Given the description of an element on the screen output the (x, y) to click on. 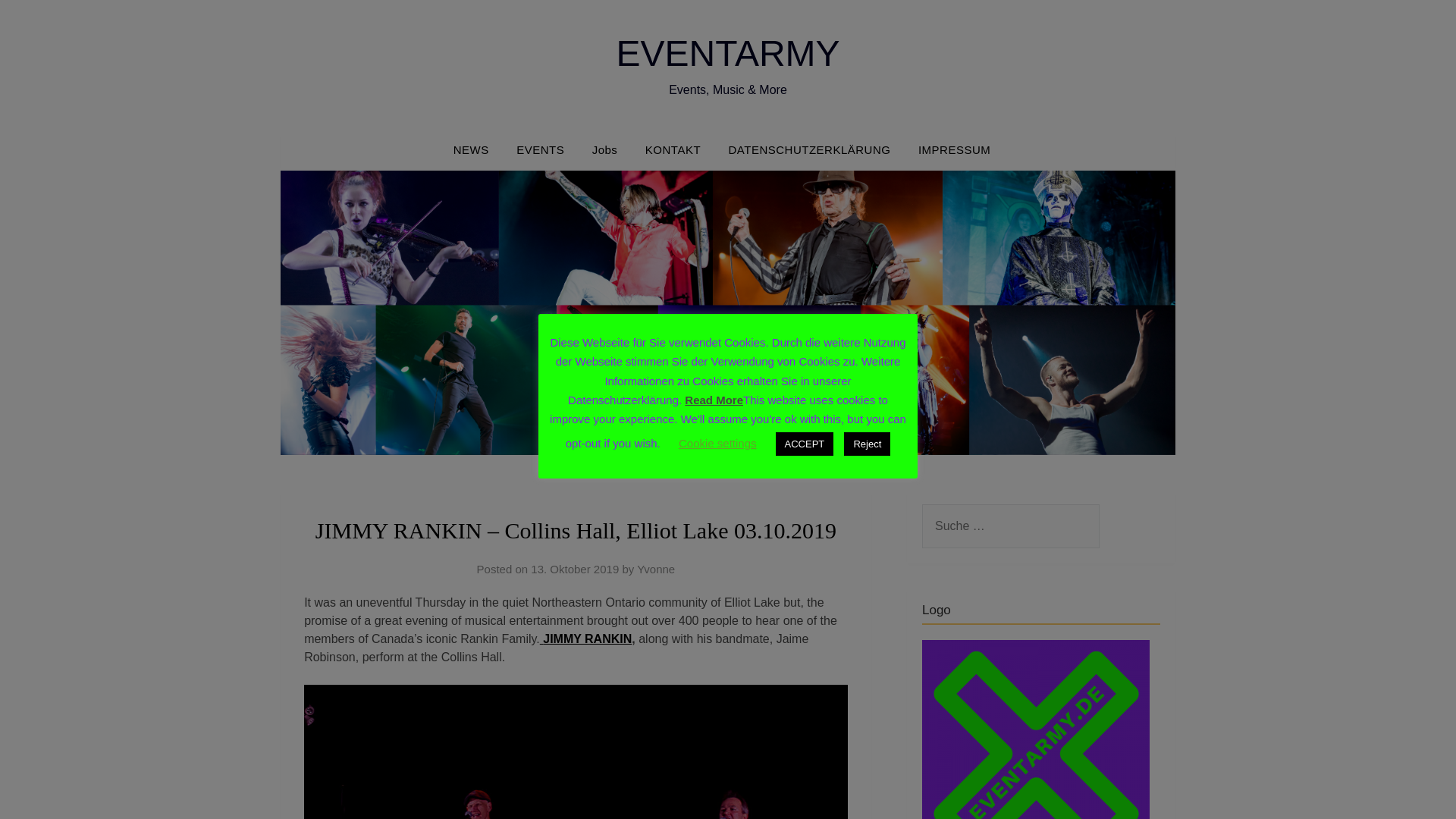
Read More (713, 399)
KONTAKT (673, 149)
13. Oktober 2019 (574, 568)
Yvonne (656, 568)
EVENTS (539, 149)
EVENTARMY (727, 53)
Jobs (604, 149)
Suche (36, 22)
IMPRESSUM (954, 149)
JIMMY RANKIN (587, 638)
